Given the description of an element on the screen output the (x, y) to click on. 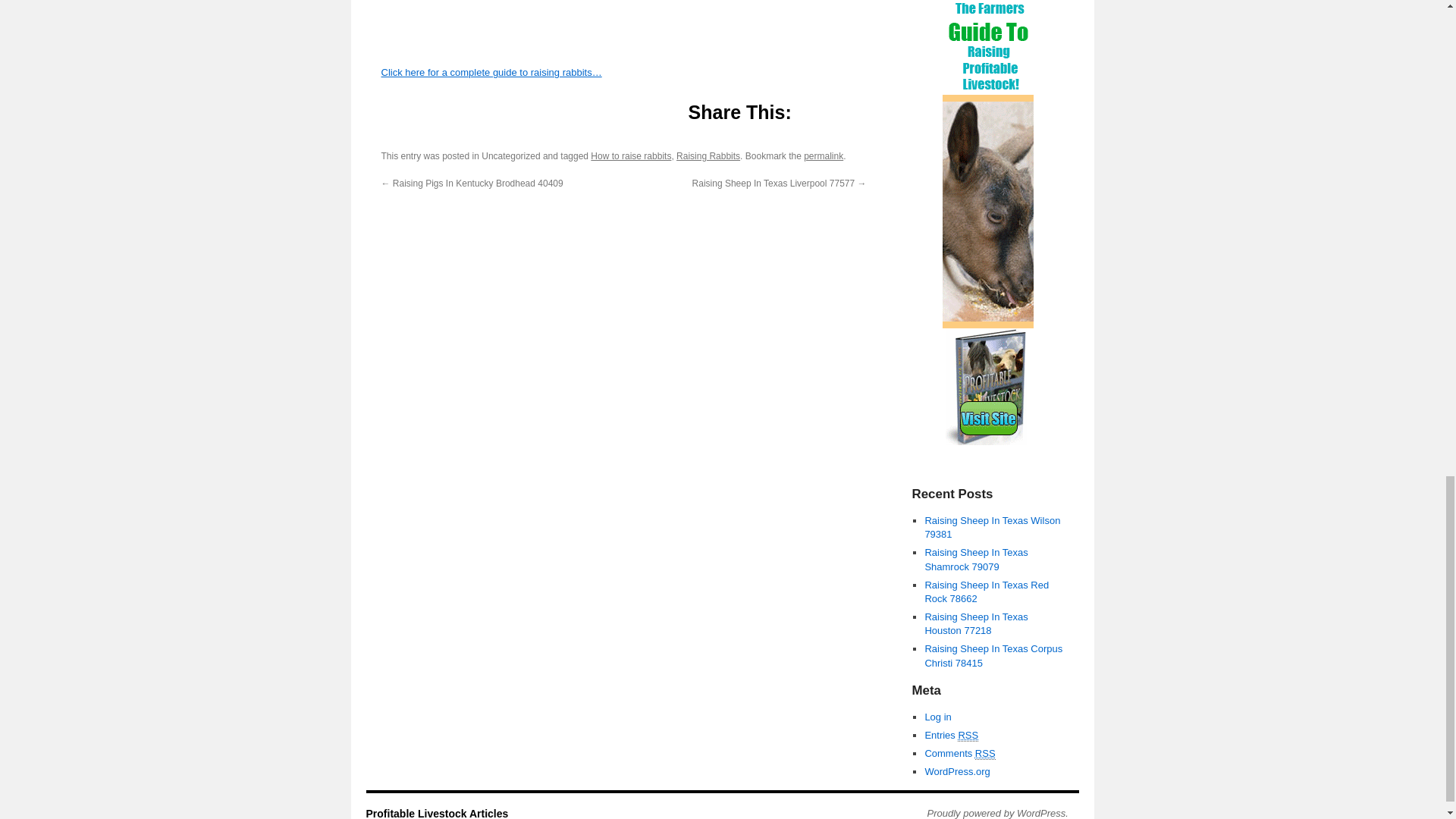
Raising Rabbits (708, 155)
Really Simple Syndication (985, 753)
How to raise rabbits (631, 155)
Really Simple Syndication (968, 735)
permalink (823, 155)
